Given the description of an element on the screen output the (x, y) to click on. 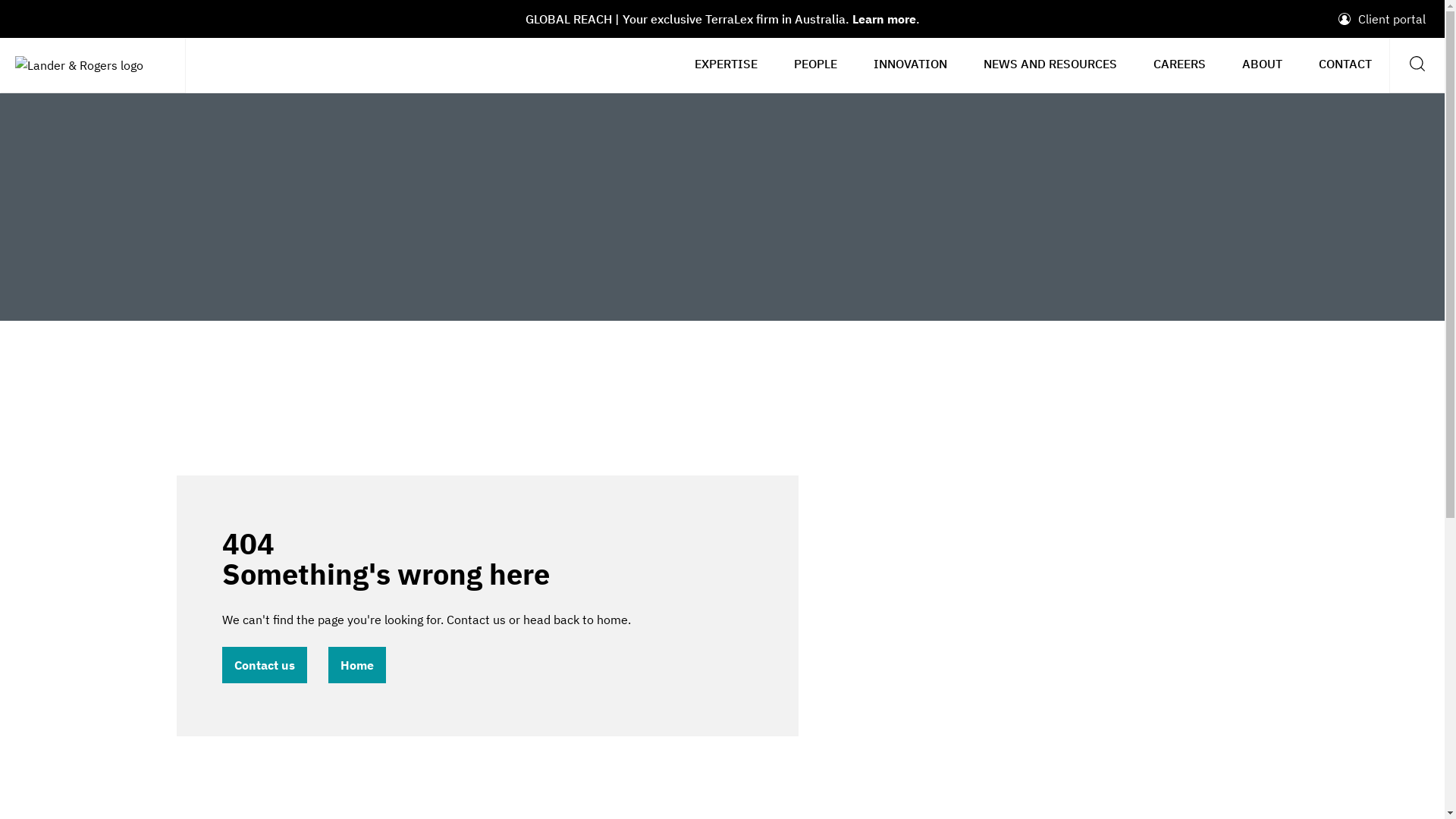
INNOVATION Element type: text (910, 63)
Contact us Element type: text (263, 664)
NEWS AND RESOURCES Element type: text (1050, 63)
EXPERTISE Element type: text (725, 63)
Home Element type: text (356, 664)
ABOUT Element type: text (1261, 63)
CONTACT Element type: text (1345, 63)
PEOPLE Element type: text (815, 63)
CAREERS Element type: text (1179, 63)
